Given the description of an element on the screen output the (x, y) to click on. 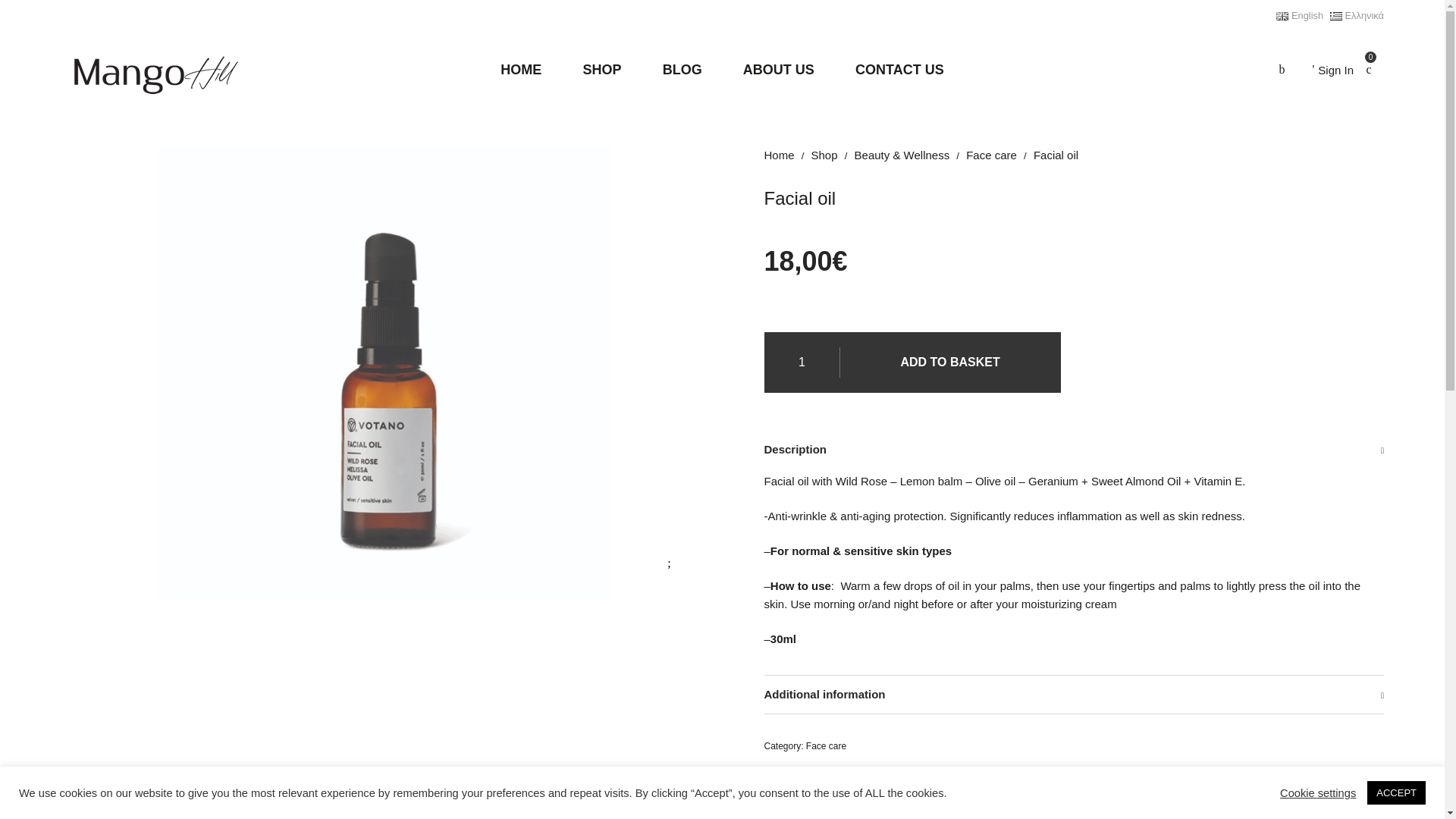
0 (1369, 69)
ADD TO BASKET (950, 362)
ABOUT US (778, 69)
Sign In (1332, 69)
Additional information (1074, 694)
Face care (991, 154)
English (1299, 15)
Face care (991, 154)
HOME (521, 69)
Shop (824, 154)
